Given the description of an element on the screen output the (x, y) to click on. 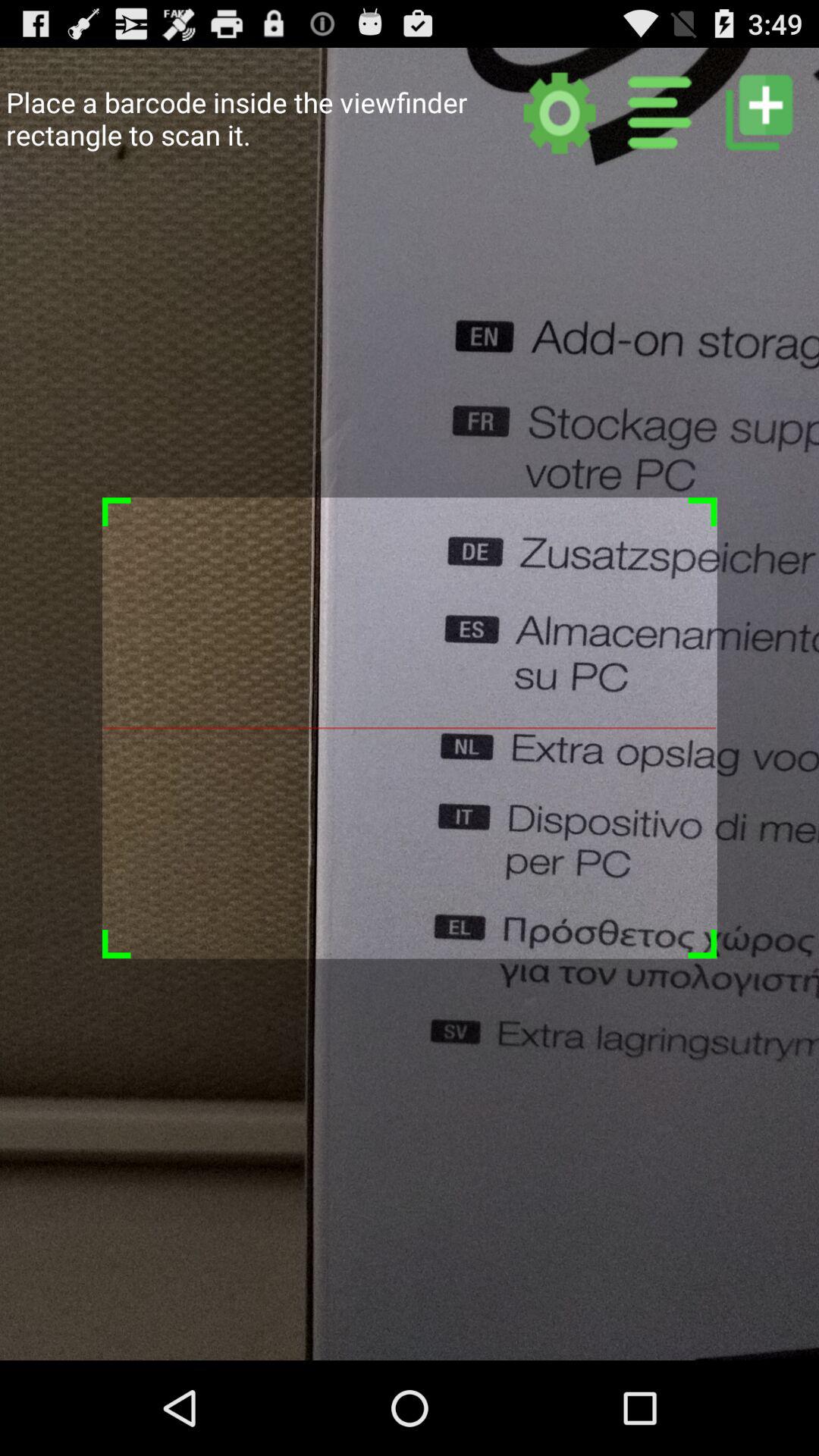
new (759, 112)
